Given the description of an element on the screen output the (x, y) to click on. 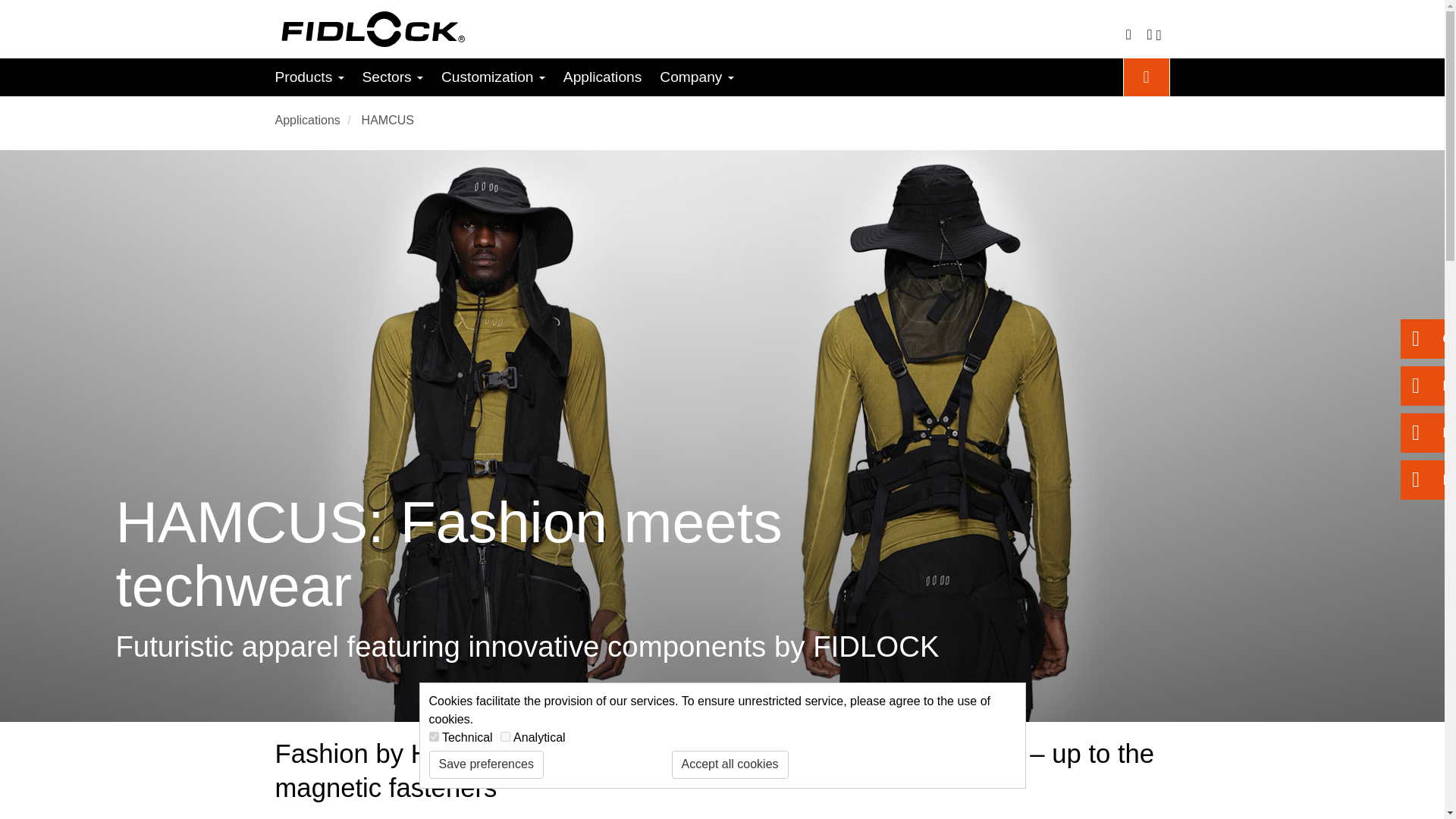
Home (369, 34)
technical (434, 737)
analytical (505, 737)
